Given the description of an element on the screen output the (x, y) to click on. 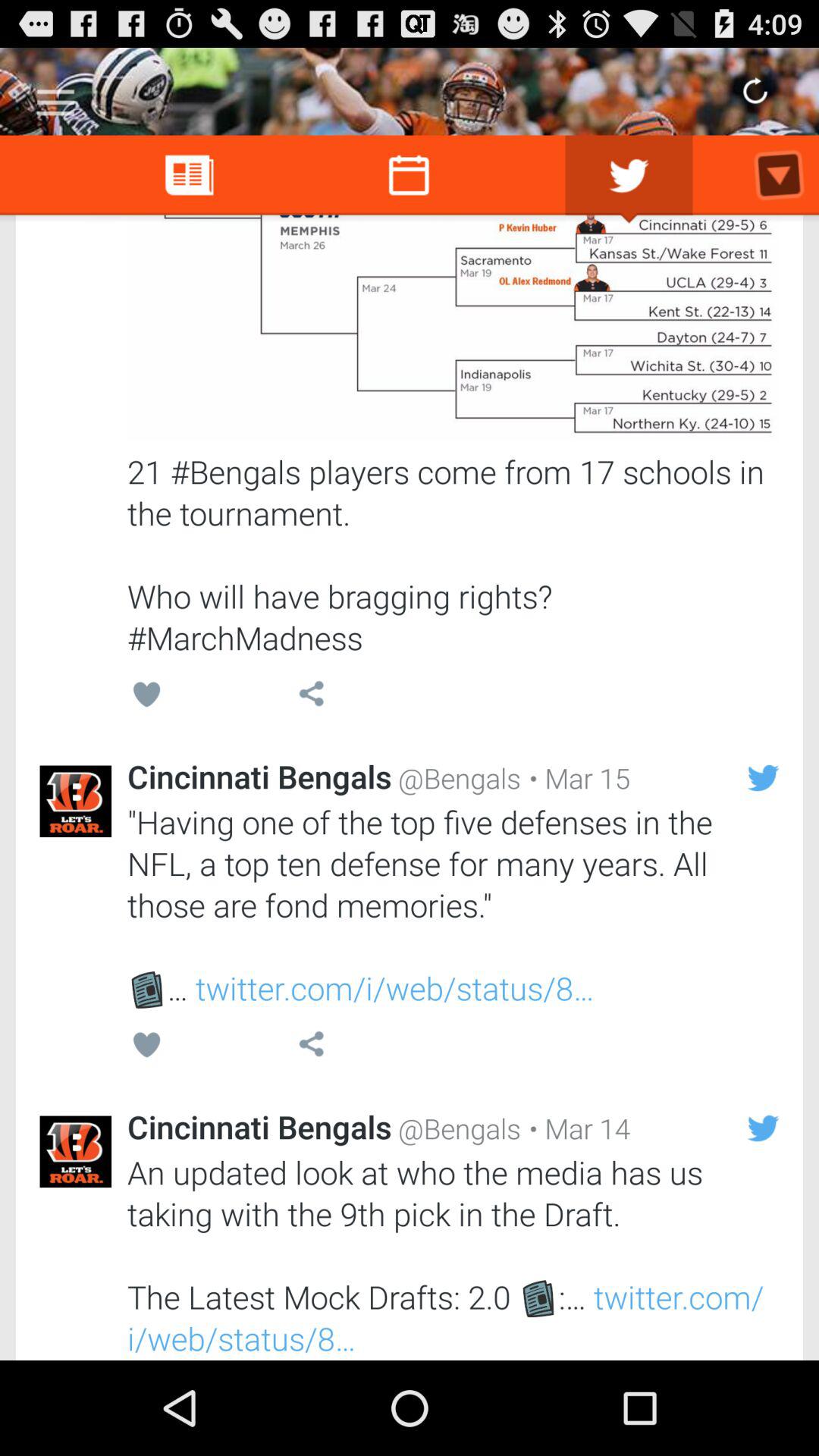
tap the 21 bengals players (453, 554)
